Given the description of an element on the screen output the (x, y) to click on. 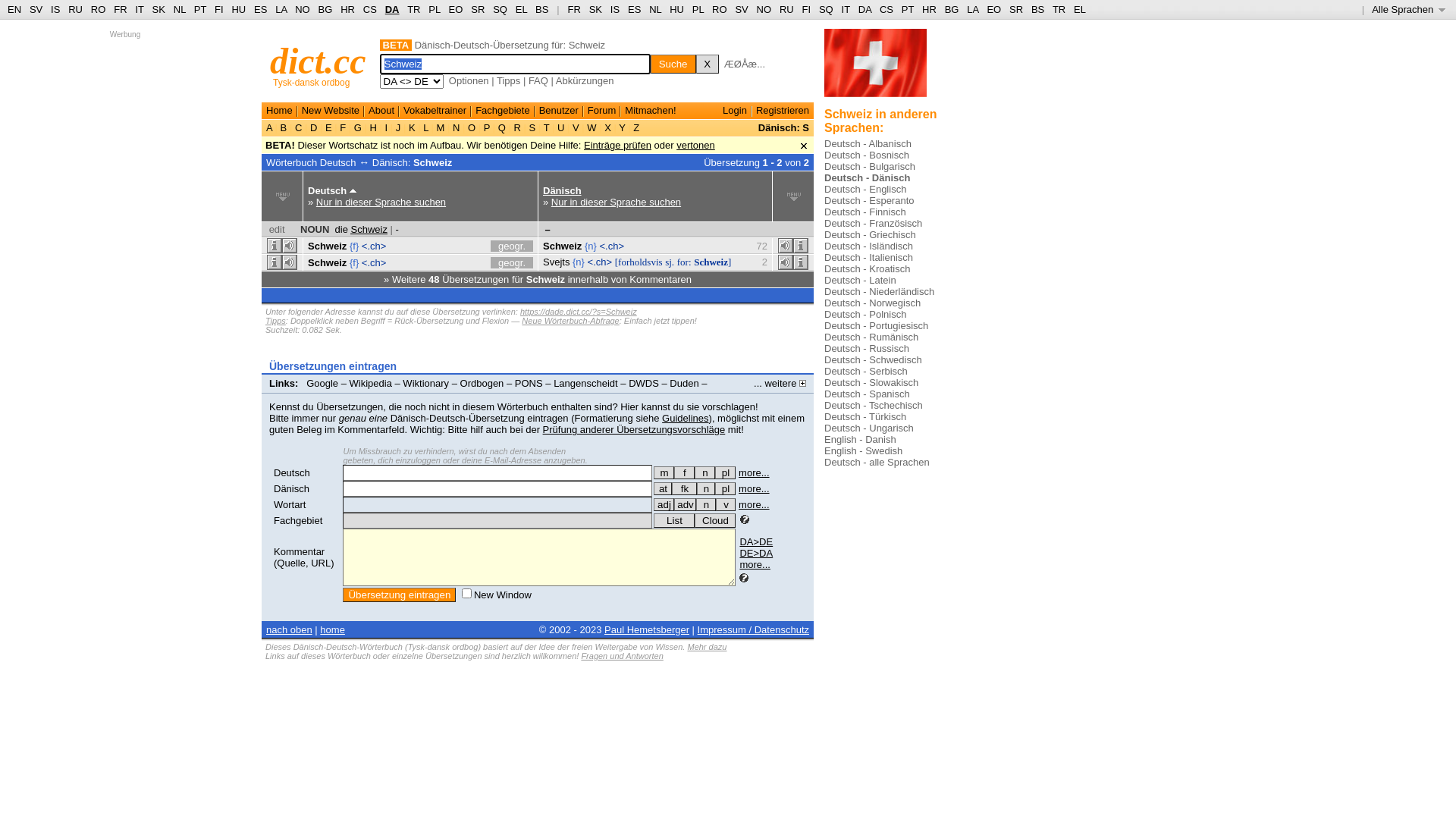
Tipps Element type: text (275, 320)
Nur in dieser Sprache suchen Element type: text (380, 201)
SV Element type: text (35, 9)
CS Element type: text (886, 9)
n Element type: text (705, 488)
BG Element type: text (325, 9)
IS Element type: text (614, 9)
v Element type: text (725, 504)
HR Element type: text (929, 9)
X Element type: text (608, 127)
K Element type: text (411, 127)
flertal Element type: hover (725, 488)
FI Element type: text (218, 9)
Langenscheidt Element type: text (585, 383)
Alle Sprachen  Element type: text (1408, 9)
pl Element type: text (725, 472)
Deutsch - Italienisch Element type: text (868, 257)
SR Element type: text (1015, 9)
SK Element type: text (595, 9)
Deutsch - Albanisch Element type: text (867, 143)
- Element type: text (396, 229)
List Element type: text (673, 520)
Wikipedia Element type: text (370, 383)
switzerland flag  three... Element type: hover (875, 68)
BS Element type: text (1037, 9)
M Element type: text (440, 127)
DWDS Element type: text (643, 383)
Deutsch - Portugiesisch Element type: text (876, 325)
[forholdsvis Element type: text (638, 261)
NL Element type: text (179, 9)
Schweiz] Element type: text (712, 261)
die - weiblich (Femininum) Element type: hover (684, 472)
Paul Hemetsberger Element type: text (646, 629)
<.ch> Element type: text (611, 245)
Nur in dieser Sprache suchen Element type: text (615, 201)
<.ch> Element type: text (373, 245)
Mehr dazu Element type: text (706, 646)
PT Element type: text (907, 9)
Deutsch - Schwedisch Element type: text (873, 359)
Deutsch - Norwegisch Element type: text (872, 302)
Deutsch - Griechisch Element type: text (870, 234)
fk Element type: text (683, 488)
Ordbogen Element type: text (482, 383)
NO Element type: text (302, 9)
W Element type: text (591, 127)
Vokabeltrainer Element type: text (434, 110)
LA Element type: text (280, 9)
Deutsch - Spanisch Element type: text (867, 393)
n Element type: text (705, 504)
for verber Element type: hover (662, 488)
Deutsch - Englisch Element type: text (865, 188)
O Element type: text (470, 127)
DA>DE Element type: text (755, 541)
G Element type: text (357, 127)
V Element type: text (575, 127)
PL Element type: text (697, 9)
BG Element type: text (951, 9)
sj. Element type: text (669, 261)
Registrieren Element type: text (782, 110)
About Element type: text (381, 110)
DE>DA Element type: text (755, 552)
RU Element type: text (75, 9)
English - Danish Element type: text (860, 439)
nach oben Element type: text (289, 629)
adv Element type: text (685, 504)
Guidelines Element type: text (685, 417)
n Element type: text (704, 472)
EL Element type: text (1079, 9)
E Element type: text (328, 127)
Wiktionary Element type: text (425, 383)
P Element type: text (486, 127)
<.ch> Element type: text (599, 261)
TR Element type: text (1058, 9)
HU Element type: text (676, 9)
SK Element type: text (158, 9)
edit Element type: text (277, 229)
RU Element type: text (786, 9)
A Element type: text (270, 127)
SQ Element type: text (826, 9)
Fragen und Antworten Element type: text (621, 655)
L Element type: text (425, 127)
Impressum / Datenschutz Element type: text (753, 629)
EO Element type: text (993, 9)
PONS Element type: text (528, 383)
Schweiz Element type: text (326, 245)
I Element type: text (386, 127)
more... Element type: text (753, 488)
Deutsch - Slowakisch Element type: text (871, 382)
pl Element type: text (725, 488)
SQ Element type: text (499, 9)
R Element type: text (517, 127)
Deutsch - Tschechisch Element type: text (873, 405)
PL Element type: text (433, 9)
Duden Element type: text (683, 383)
FI Element type: text (806, 9)
Benutzer Element type: text (558, 110)
at Element type: text (662, 488)
Schweiz Element type: text (561, 245)
FR Element type: text (119, 9)
Deutsch - Esperanto Element type: text (869, 200)
LA Element type: text (972, 9)
Deutsch - alle Sprachen Element type: text (876, 461)
HU Element type: text (238, 9)
Suche Element type: text (673, 63)
PT Element type: text (200, 9)
IS Element type: text (54, 9)
geogr. Element type: text (511, 245)
Deutsch Element type: text (291, 472)
Deutsch - Bosnisch Element type: text (866, 154)
FR Element type: text (573, 9)
H Element type: text (373, 127)
RO Element type: text (719, 9)
Google Element type: text (322, 383)
D Element type: text (313, 127)
FAQ Element type: text (538, 80)
die - Mehrzahl (Plural) Element type: hover (725, 472)
Mitmachen! Element type: text (649, 110)
B Element type: text (283, 127)
Optionen Element type: text (468, 80)
EL Element type: text (521, 9)
geogr. Element type: text (511, 261)
Z Element type: text (636, 127)
DA Element type: text (864, 9)
Links anpassen Element type: text (306, 394)
Home Element type: text (279, 110)
CS Element type: text (369, 9)
<.ch> Element type: text (373, 261)
Q Element type: text (501, 127)
EN Element type: text (14, 9)
vertonen Element type: text (695, 144)
DA Element type: text (392, 9)
Login Element type: text (734, 110)
C Element type: text (297, 127)
BS Element type: text (541, 9)
Deutsch - Finnisch Element type: text (865, 211)
J Element type: text (397, 127)
SR Element type: text (477, 9)
Fachgebiete Element type: text (502, 110)
Schweiz Element type: text (432, 162)
S Element type: text (532, 127)
Svejts Element type: text (555, 261)
Deutsch - Polnisch Element type: text (865, 314)
X Element type: text (707, 63)
dict.cc Element type: text (317, 60)
New Website Element type: text (330, 110)
SV Element type: text (740, 9)
IT Element type: text (138, 9)
m Element type: text (663, 472)
for: Element type: text (684, 261)
f Element type: text (684, 472)
IT Element type: text (845, 9)
English - Swedish Element type: text (863, 450)
more... Element type: text (753, 504)
Deutsch - Latein Element type: text (860, 279)
Schweiz Element type: text (326, 261)
EO Element type: text (455, 9)
U Element type: text (560, 127)
Deutsch - Bulgarisch Element type: text (869, 166)
Deutsch - Russisch Element type: text (866, 348)
N Element type: text (455, 127)
Deutsch - Ungarisch Element type: text (868, 427)
ES Element type: text (633, 9)
more... Element type: text (753, 472)
home Element type: text (332, 629)
adj Element type: text (663, 504)
https://dade.dict.cc/?s=Schweiz Element type: text (578, 311)
F Element type: text (342, 127)
die Schweiz Element type: text (361, 229)
HR Element type: text (347, 9)
TR Element type: text (413, 9)
Forum Element type: text (601, 110)
... weitere Element type: text (779, 383)
T Element type: text (546, 127)
RO Element type: text (98, 9)
ES Element type: text (260, 9)
more... Element type: text (754, 564)
NL Element type: text (655, 9)
Deutsch - Serbisch Element type: text (865, 370)
NO Element type: text (763, 9)
Y Element type: text (621, 127)
Deutsch - Kroatisch Element type: text (867, 268)
Cloud Element type: text (714, 520)
Tipps Element type: text (508, 80)
